Given the description of an element on the screen output the (x, y) to click on. 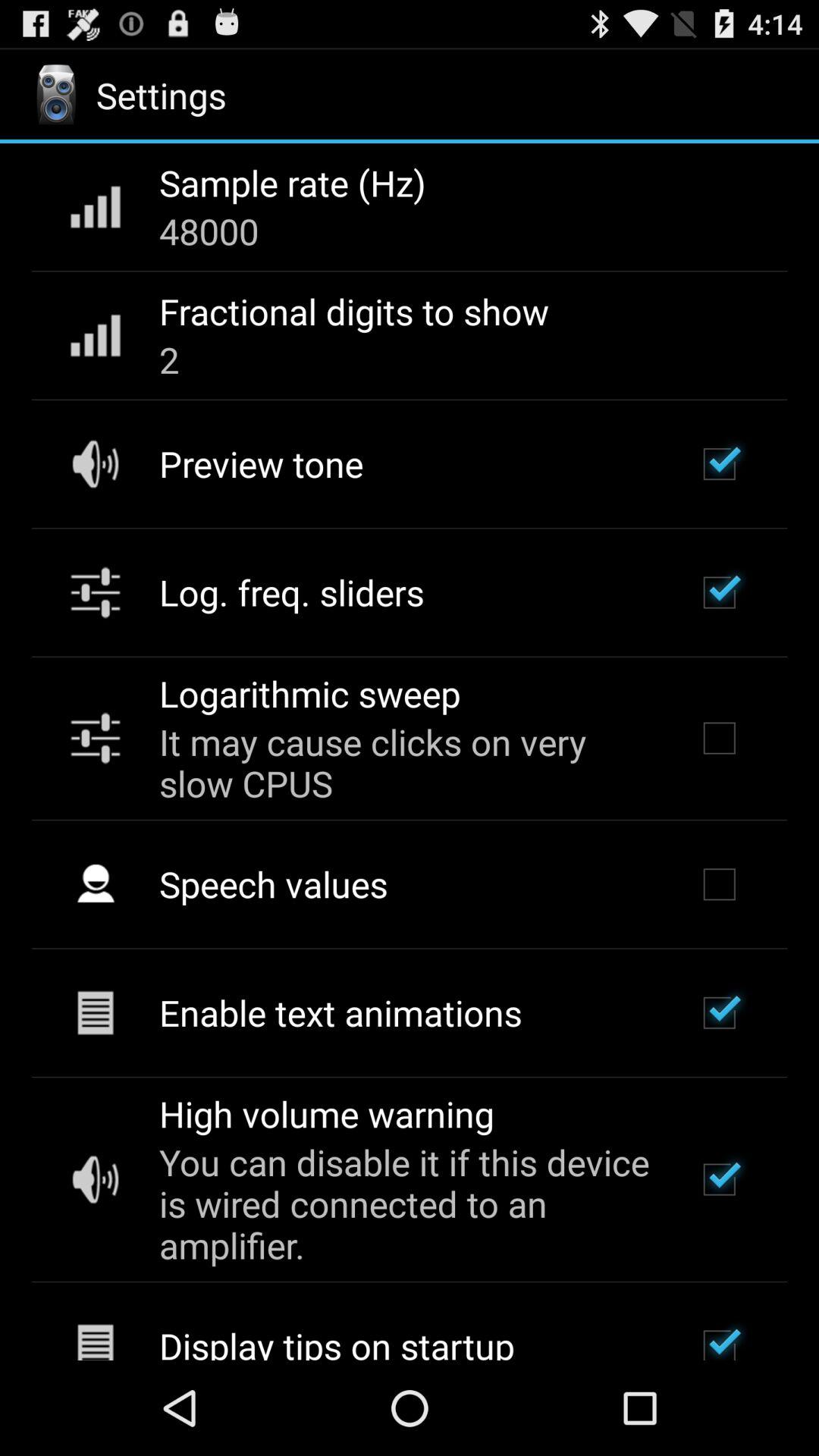
press sample rate (hz) item (292, 182)
